Given the description of an element on the screen output the (x, y) to click on. 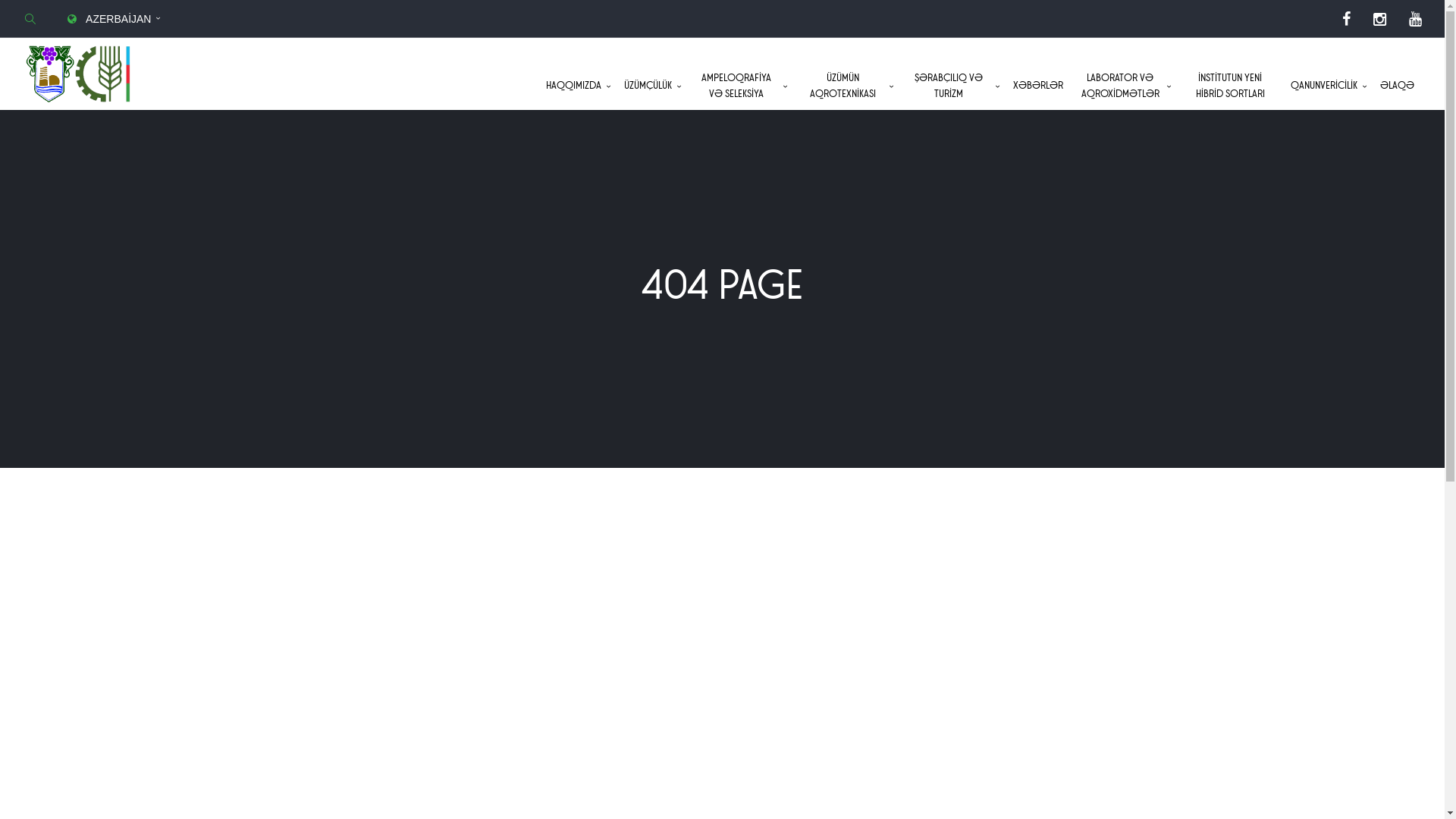
Youtube Element type: hover (1414, 18)
Instagram Element type: hover (1379, 18)
AZERBAIJAN Element type: text (115, 18)
Facebook Element type: hover (1346, 18)
QANUNVERICILIK Element type: text (1327, 85)
HAQQIMIZDA Element type: text (577, 85)
